Given the description of an element on the screen output the (x, y) to click on. 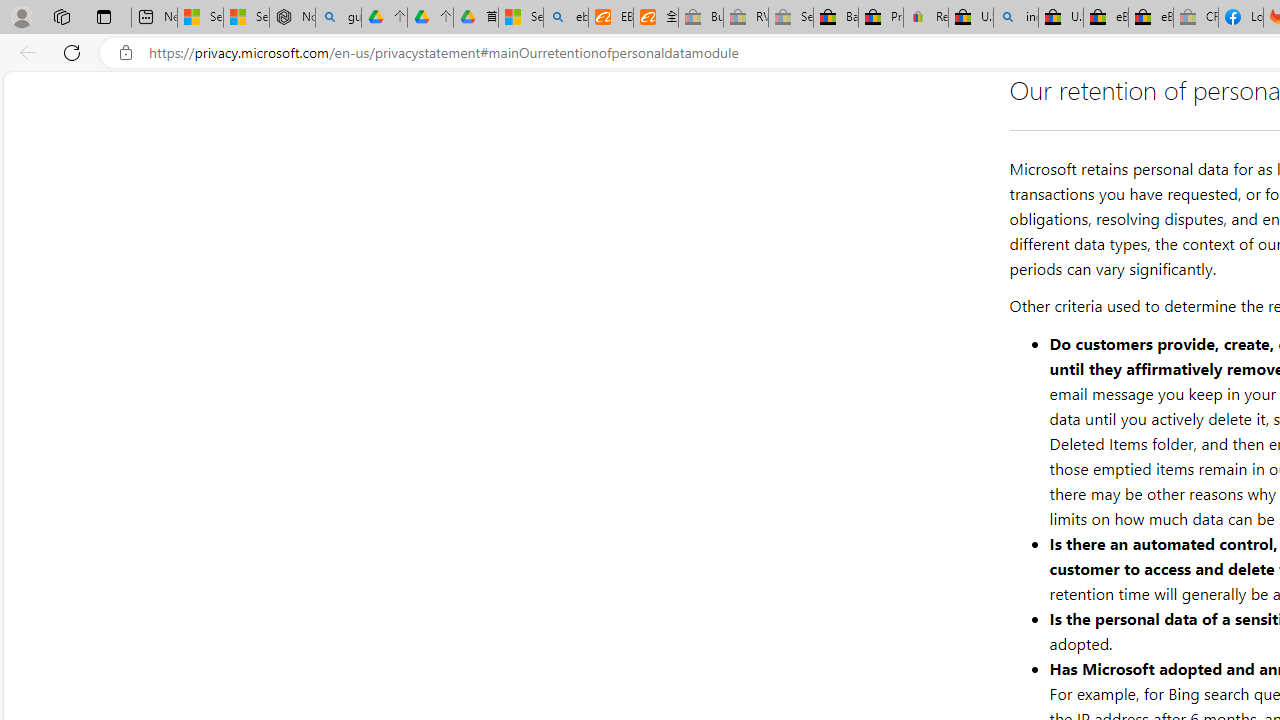
Sell worldwide with eBay - Sleeping (790, 17)
U.S. State Privacy Disclosures - eBay Inc. (1060, 17)
Register: Create a personal eBay account (925, 17)
guge yunpan - Search (338, 17)
Log into Facebook (1240, 17)
Baby Keepsakes & Announcements for sale | eBay (835, 17)
